Given the description of an element on the screen output the (x, y) to click on. 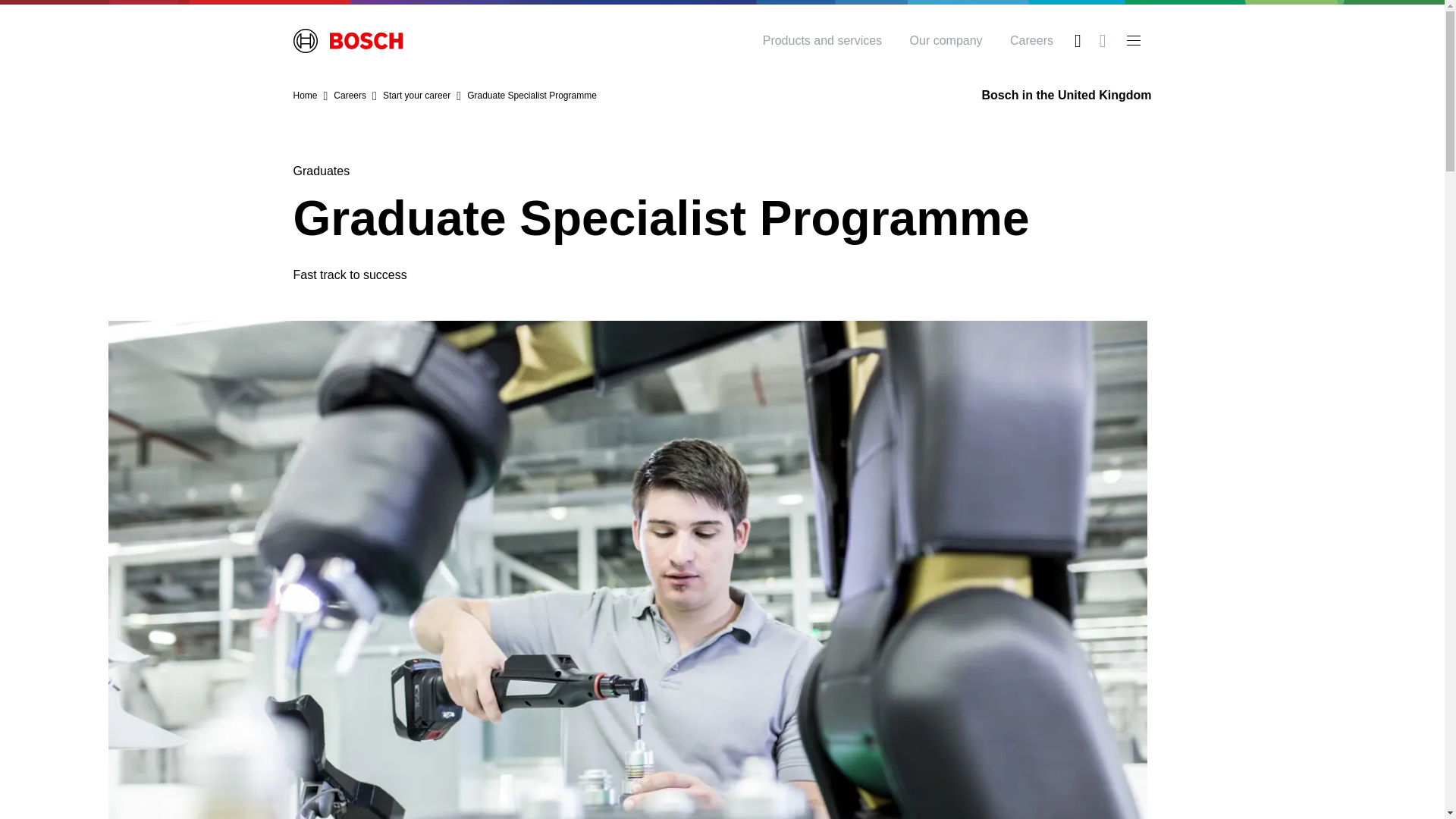
Menu (1133, 40)
Products and services (822, 40)
Our company (946, 40)
Careers (1031, 40)
